Given the description of an element on the screen output the (x, y) to click on. 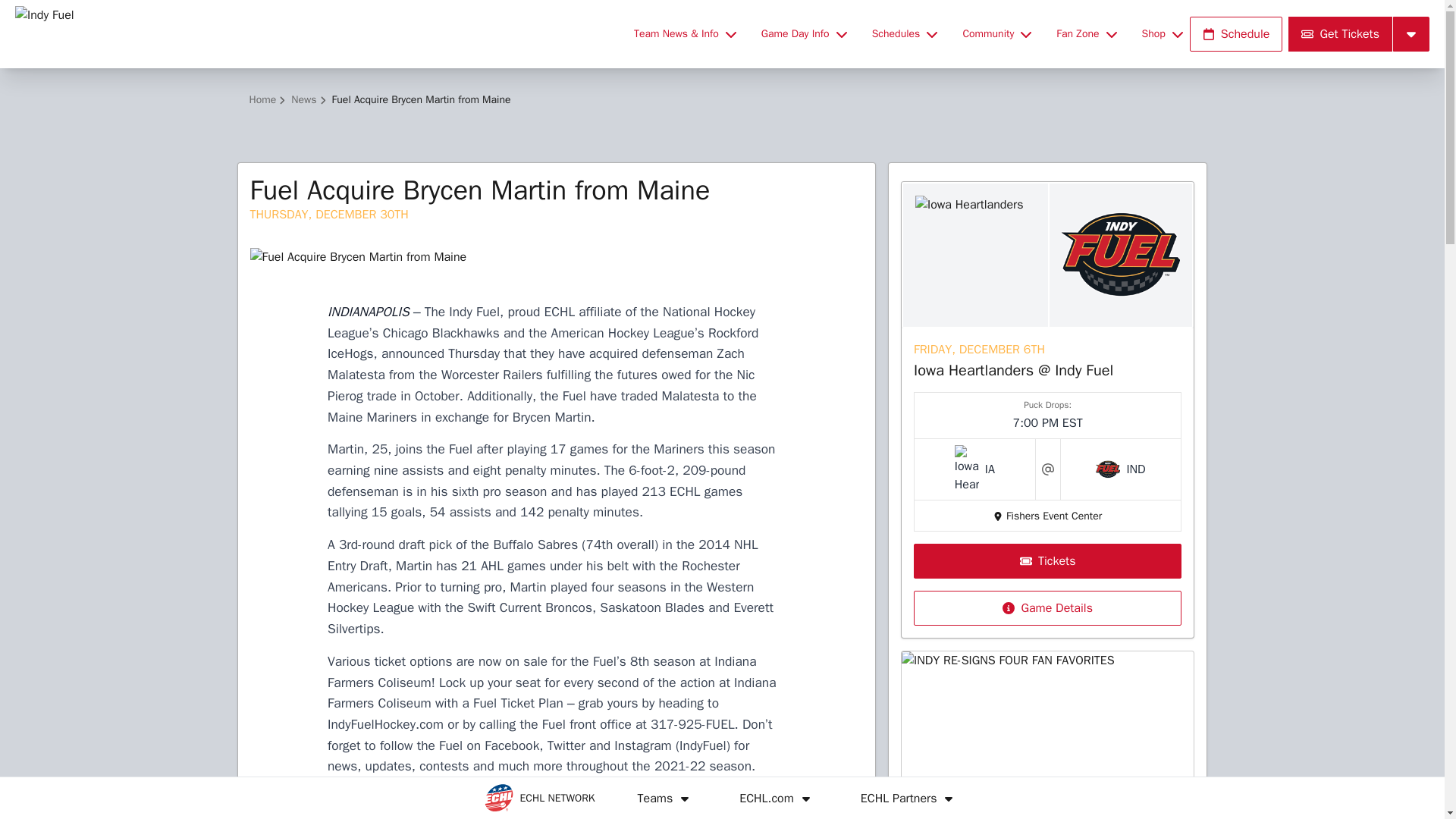
Game Day Info (804, 33)
Indy Fuel (314, 33)
Schedule (1236, 33)
Shop (1162, 33)
Schedules (905, 33)
Get Tickets (1339, 33)
Fan Zone (1085, 33)
Community (997, 33)
